Given the description of an element on the screen output the (x, y) to click on. 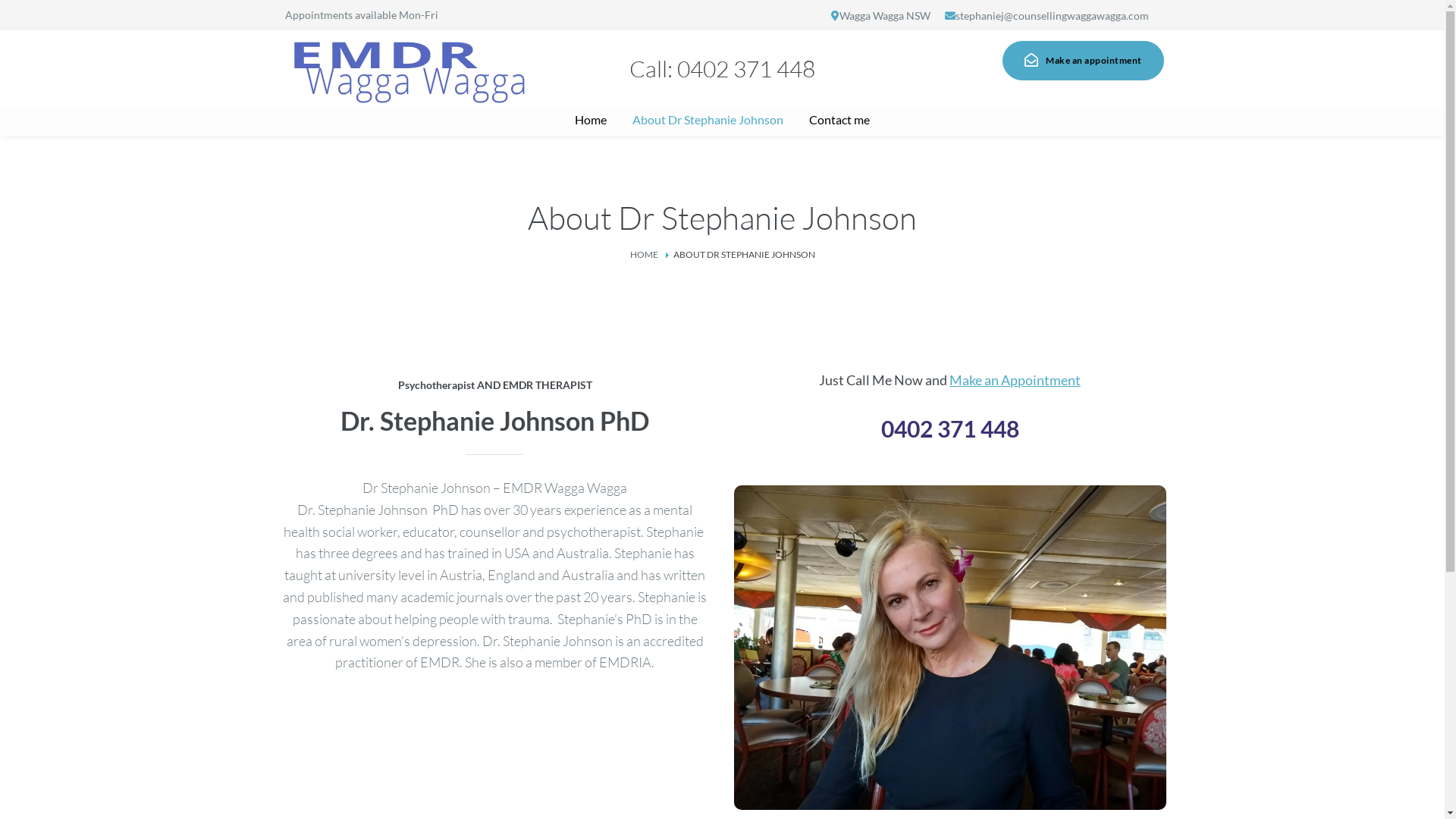
Contact me Element type: text (839, 119)
HOME Element type: text (643, 254)
0402 371 448 Element type: text (746, 68)
Home Element type: text (590, 119)
stephaniej@counsellingwaggawagga.com Element type: text (1051, 15)
Make an appointment Element type: text (1083, 60)
Make an Appointment Element type: text (1014, 379)
About Dr Stephanie Johnson Element type: text (707, 119)
